Given the description of an element on the screen output the (x, y) to click on. 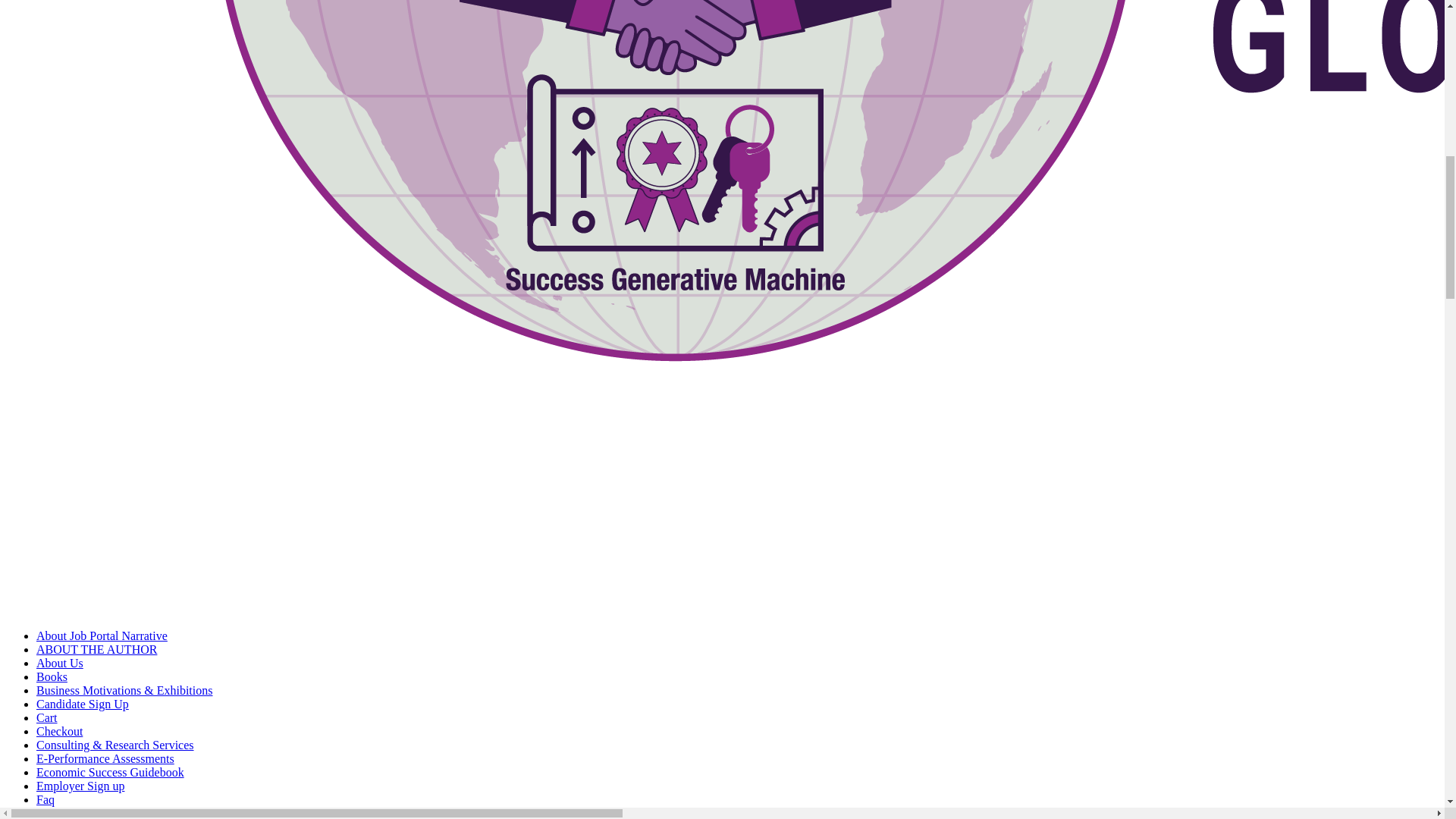
Checkout (59, 730)
ABOUT THE AUTHOR (96, 649)
About Us (59, 662)
About Job Portal Narrative (101, 635)
Employer Sign up (79, 785)
Economic Success Guidebook (110, 771)
Books (51, 676)
Cart (47, 717)
Faq (45, 799)
E-Performance Assessments (105, 758)
